Given the description of an element on the screen output the (x, y) to click on. 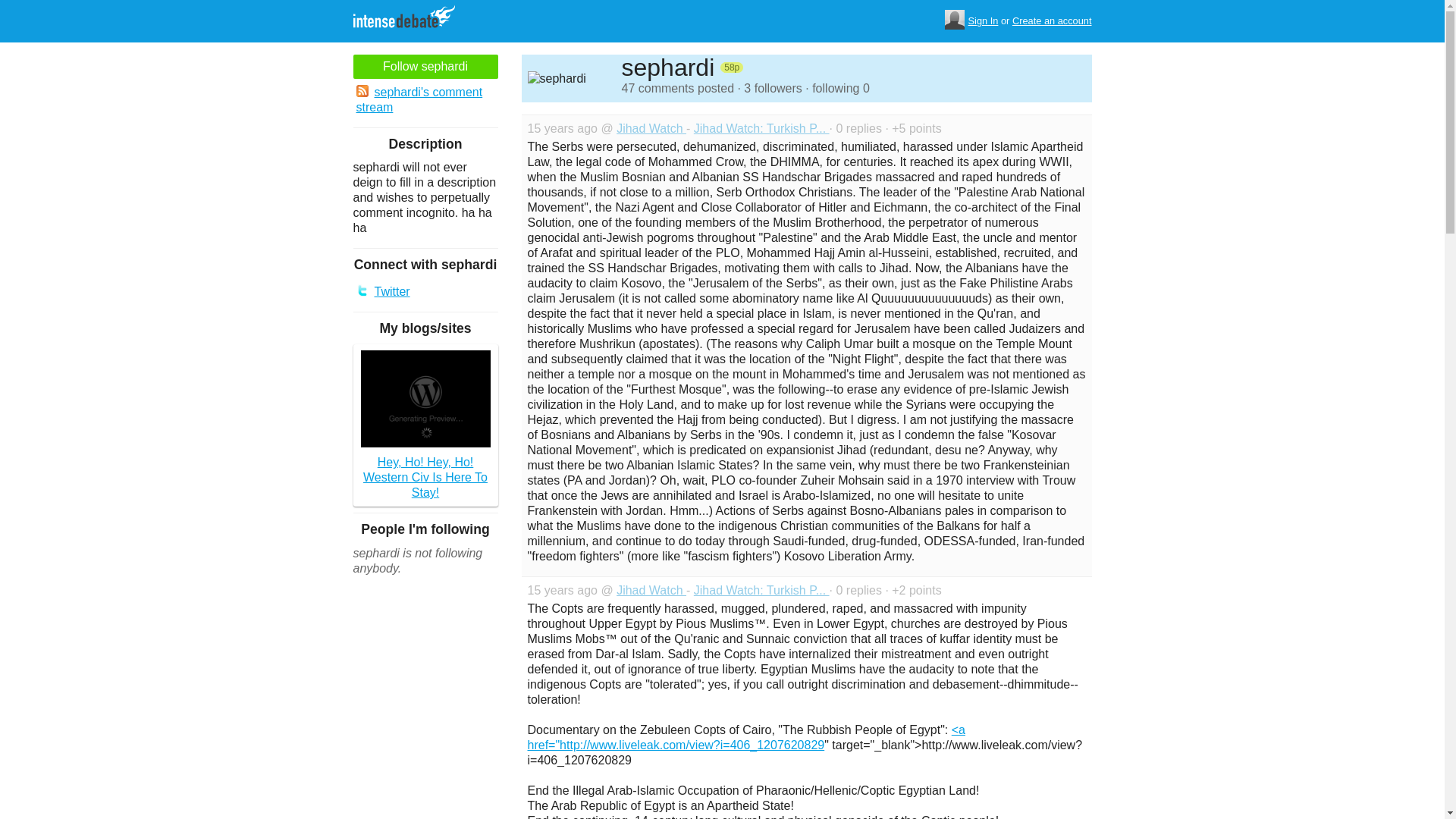
Jihad Watch (650, 128)
Sign In (983, 21)
IntenseDebate Comment System (410, 18)
Create an account (1051, 21)
sephardi's comment stream (425, 99)
Follow sephardi (425, 66)
Jihad Watch (650, 590)
Jihad Watch: Turkish P... (761, 128)
Jihad Watch: Turkish P... (761, 590)
Twitter (425, 291)
